Given the description of an element on the screen output the (x, y) to click on. 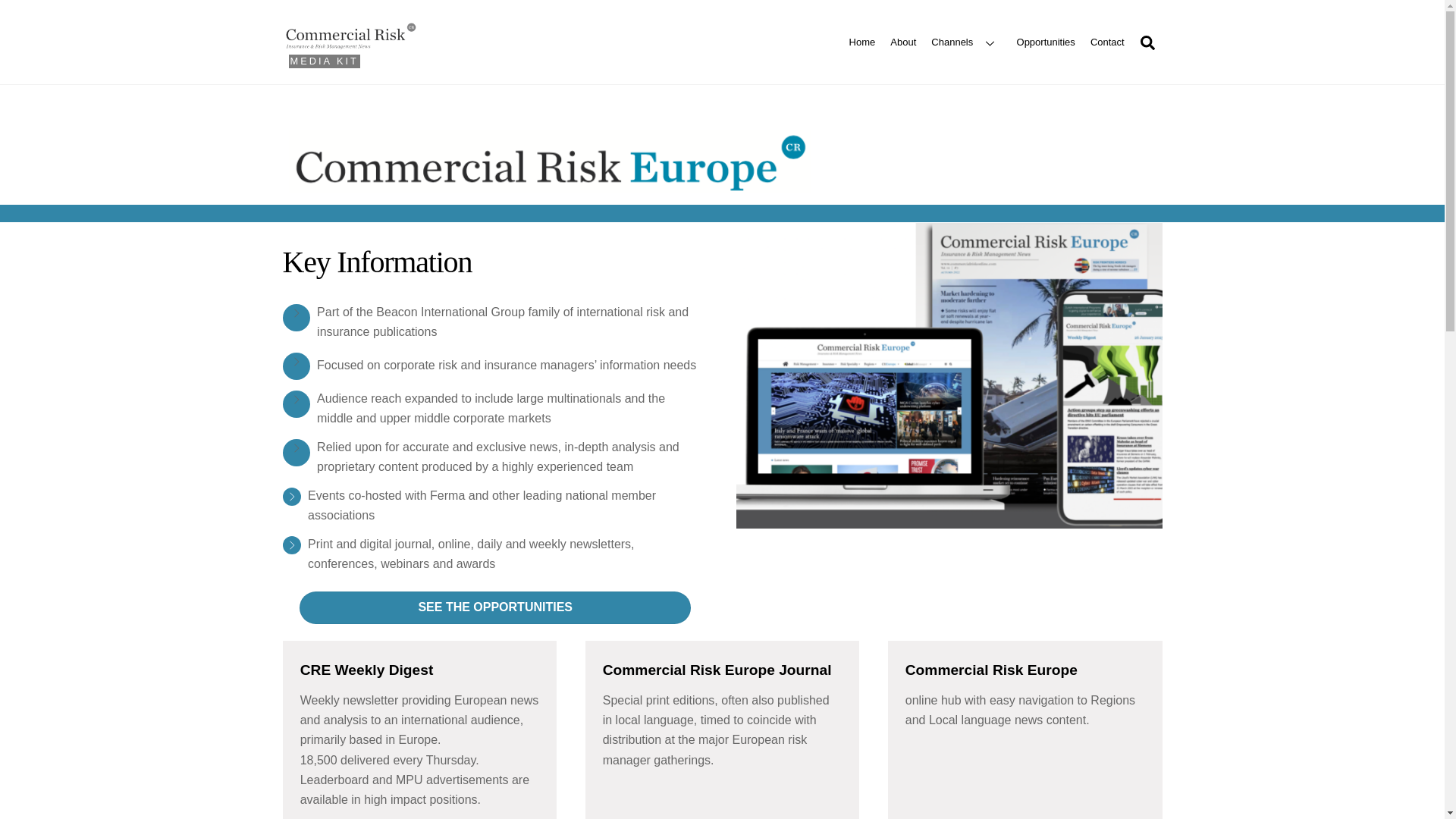
SEE THE OPPORTUNITIES (495, 607)
Schermata 2023-03-02 alle 13.02.35 (948, 375)
Opportunities (1045, 42)
Page 3 (419, 734)
Commercial Risk Media Kit (351, 42)
Search (1146, 41)
Contact (1106, 42)
Channels (966, 42)
Home (861, 42)
About (902, 42)
Page 3 (722, 714)
eur (550, 160)
Page 3 (798, 41)
